Given the description of an element on the screen output the (x, y) to click on. 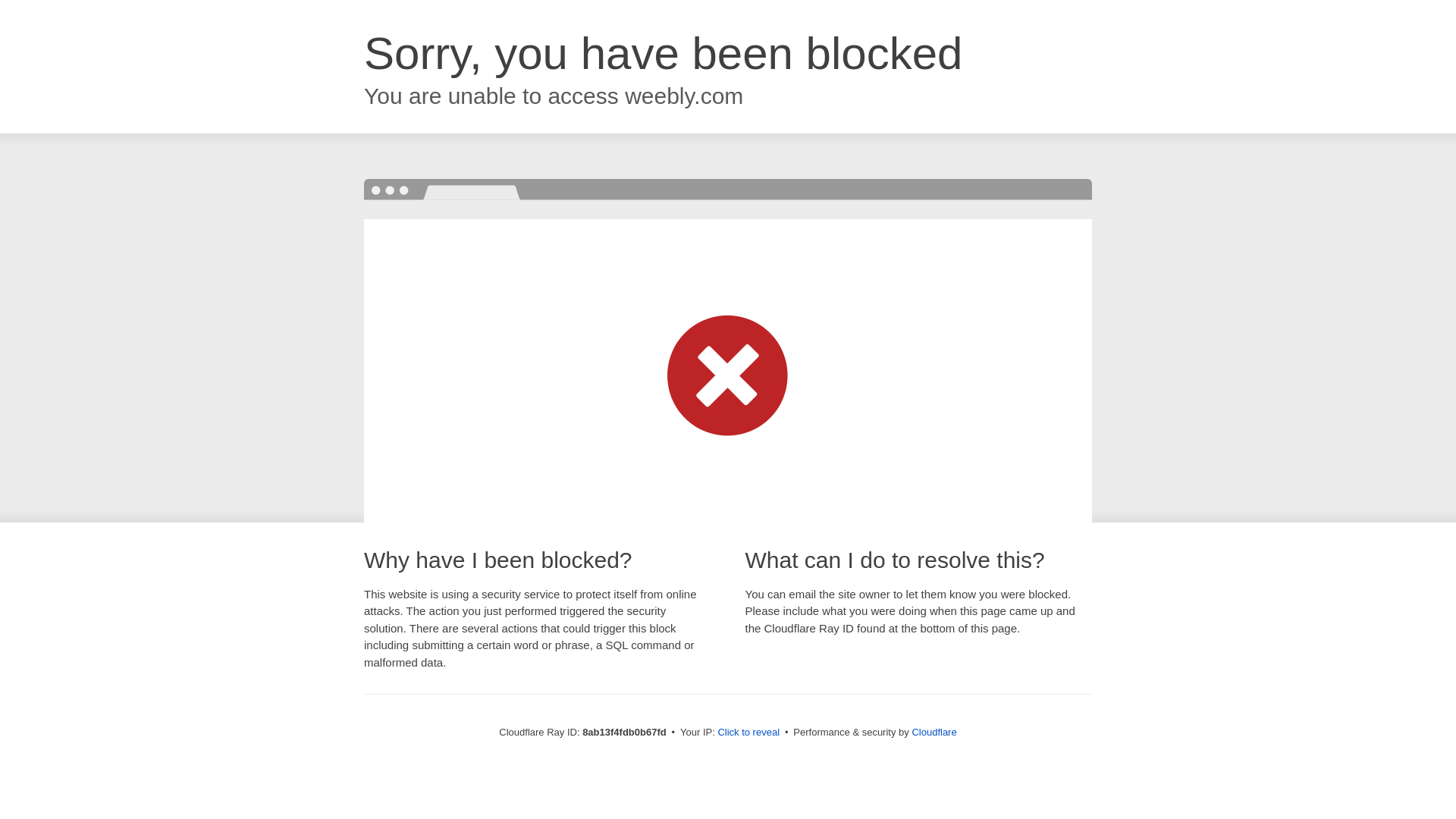
Cloudflare (933, 731)
Click to reveal (747, 732)
